Given the description of an element on the screen output the (x, y) to click on. 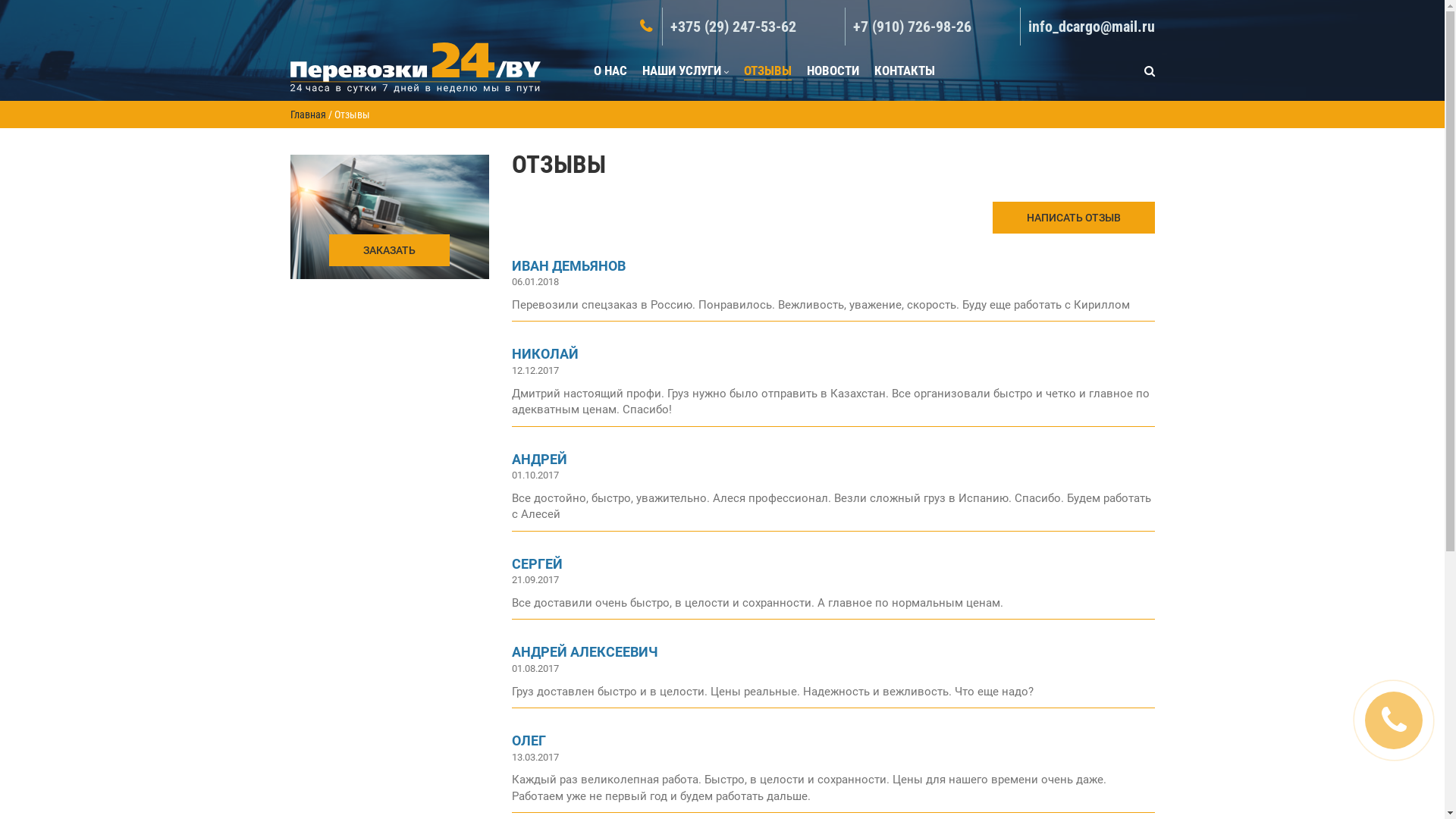
+375 (29) 247-53-62 Element type: text (728, 26)
info_dcargo@mail.ru Element type: text (1086, 26)
+7 (910) 726-98-26 Element type: text (907, 26)
